Given the description of an element on the screen output the (x, y) to click on. 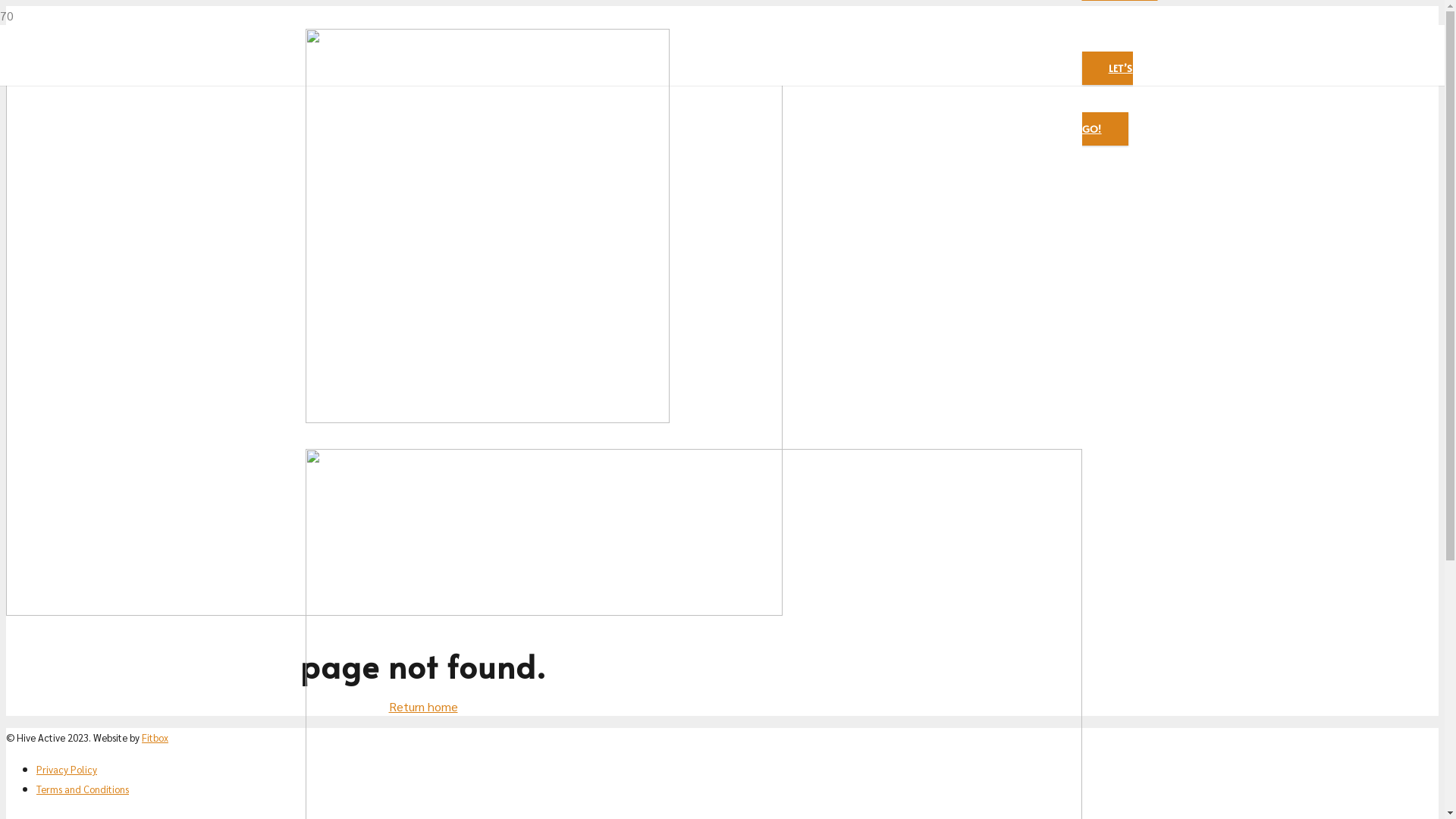
Privacy Policy Element type: text (66, 768)
Return home Element type: text (422, 706)
Terms and Conditions Element type: text (82, 788)
Fitbox Element type: text (154, 737)
